Given the description of an element on the screen output the (x, y) to click on. 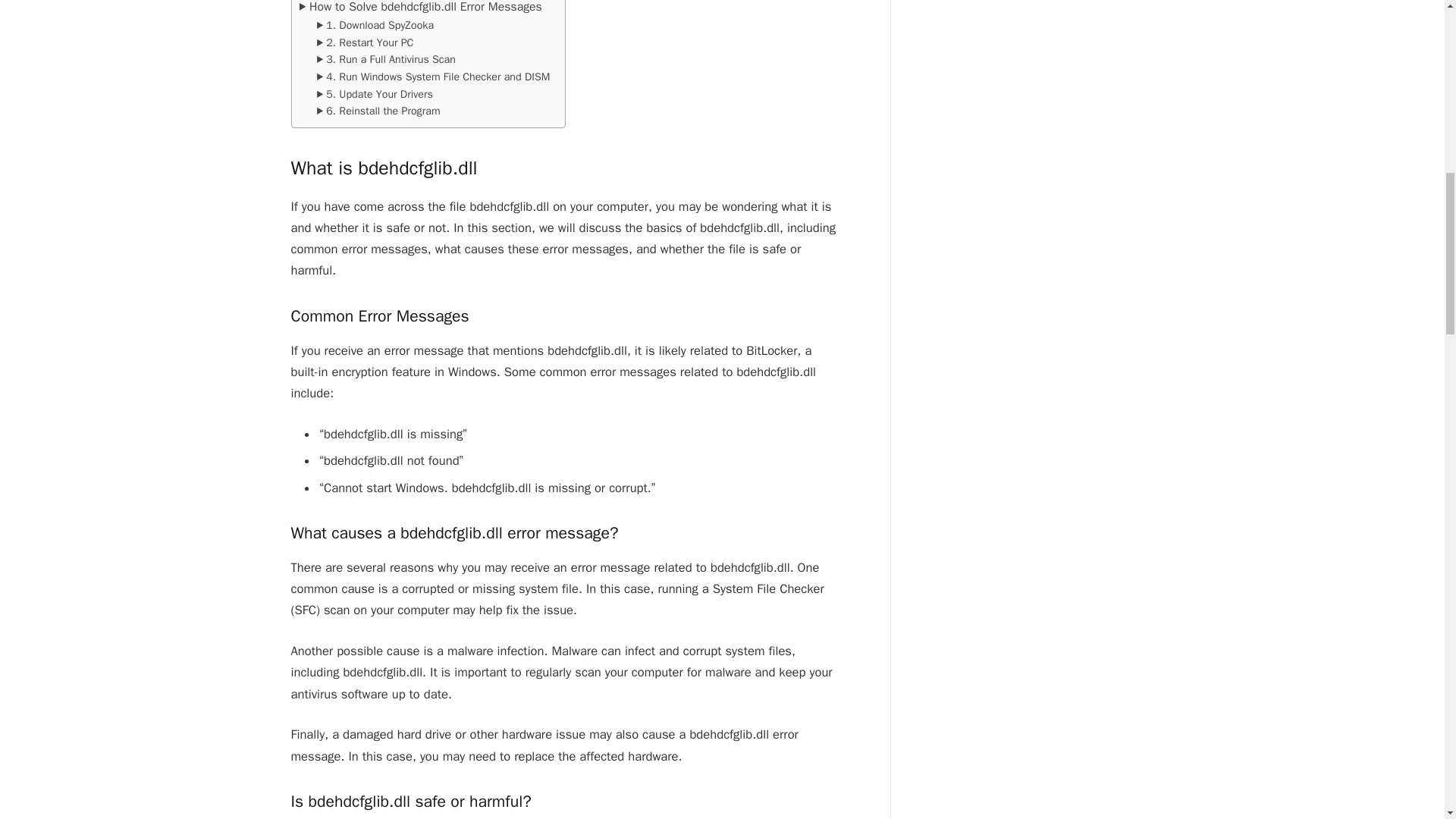
3. Run a Full Antivirus Scan (386, 58)
How to Solve bdehdcfglib.dll Error Messages (419, 8)
4. Run Windows System File Checker and DISM (433, 76)
How to Solve bdehdcfglib.dll Error Messages (419, 8)
2. Restart Your PC (365, 42)
6. Reinstall the Program (378, 110)
1. Download SpyZooka (375, 25)
5. Update Your Drivers (374, 94)
